Given the description of an element on the screen output the (x, y) to click on. 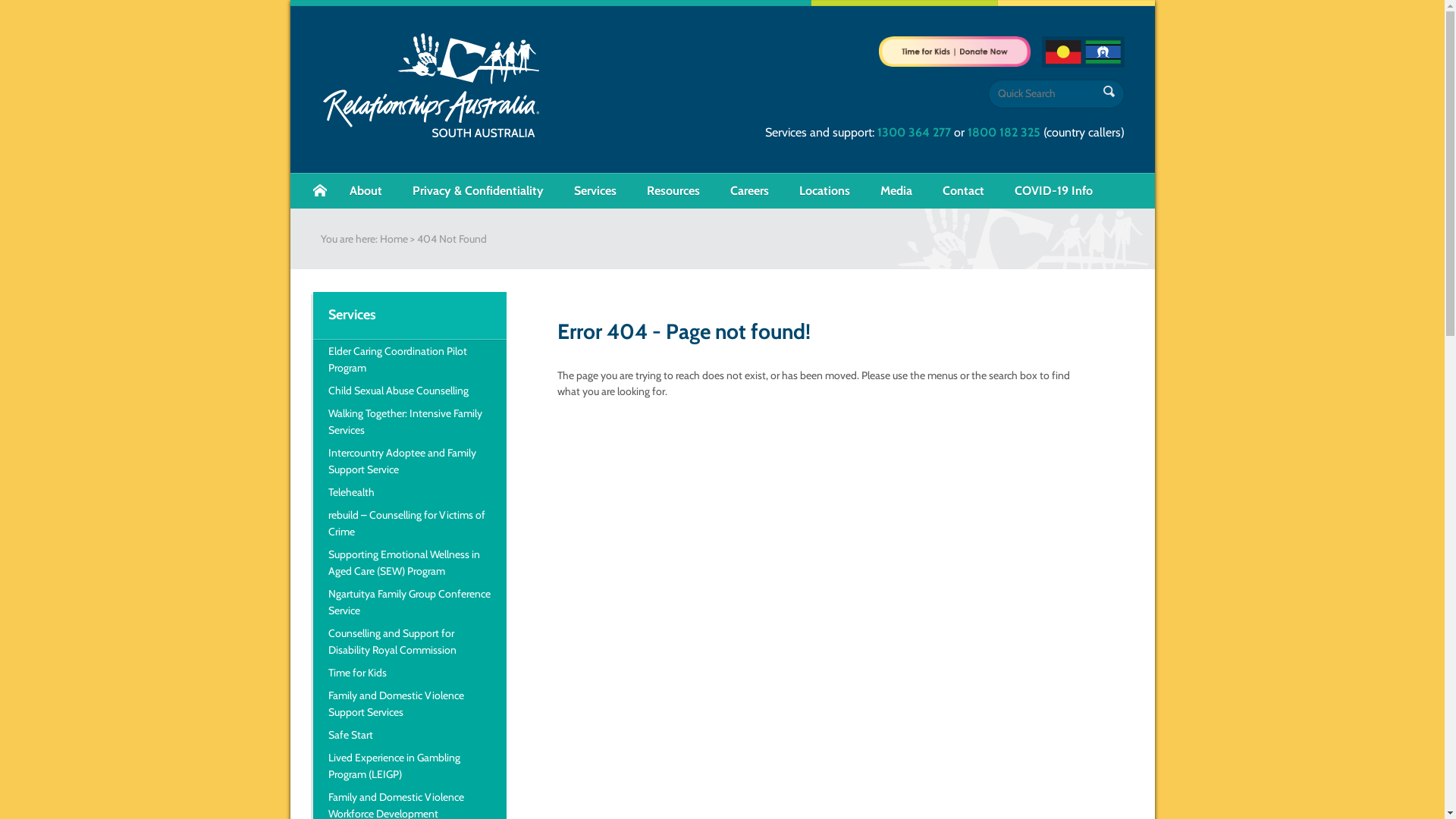
Careers Element type: text (748, 190)
Lived Experience in Gambling Program (LEIGP) Element type: text (408, 765)
Intercountry Adoptee and Family Support Service Element type: text (408, 460)
Aboriginal Element type: text (1062, 51)
Walking Together: Intensive Family Services Element type: text (408, 421)
Resources Element type: text (672, 190)
Ngartuitya Family Group Conference Service Element type: text (408, 601)
RASA Home Page Element type: hover (318, 190)
Home Element type: text (393, 238)
Counselling and Support for Disability Royal Commission Element type: text (408, 641)
Elder Caring Coordination Pilot Program Element type: text (408, 359)
About Element type: text (364, 190)
Media Element type: text (895, 190)
supporting you through change. Element type: hover (430, 84)
Child Sexual Abuse Counselling Element type: text (408, 390)
COVID-19 Info Element type: text (1053, 190)
Safe Start Element type: text (408, 734)
Telehealth Element type: text (408, 491)
Privacy & Confidentiality Element type: text (477, 190)
1800 182 325 Element type: text (1003, 132)
Time for Kids Element type: text (408, 672)
Family and Domestic Violence Support Services Element type: text (408, 703)
Services Element type: text (594, 190)
Search Element type: text (1108, 92)
1300 364 277 Element type: text (913, 132)
Contact Element type: text (962, 190)
Locations Element type: text (824, 190)
Torres Strait Islander Element type: text (1102, 51)
Supporting Emotional Wellness in Aged Care (SEW) Program Element type: text (408, 562)
